Given the description of an element on the screen output the (x, y) to click on. 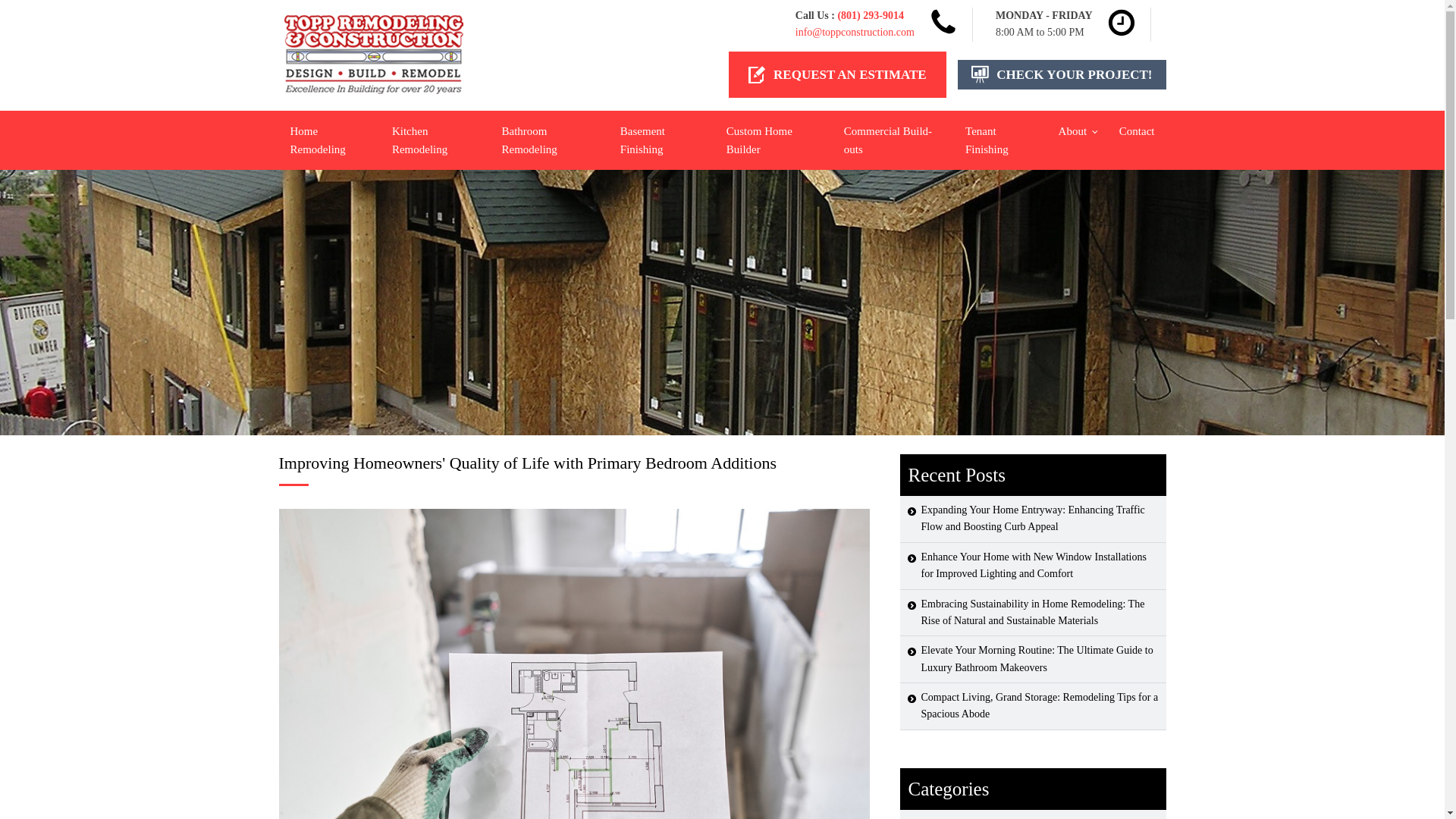
REQUEST AN ESTIMATE (837, 74)
Basement Finishing (661, 139)
Commercial Build-outs (892, 139)
CHECK YOUR PROJECT! (1062, 74)
Tenant Finishing (999, 139)
Contact (1137, 130)
Kitchen Remodeling (435, 139)
Home Remodeling (329, 139)
